Given the description of an element on the screen output the (x, y) to click on. 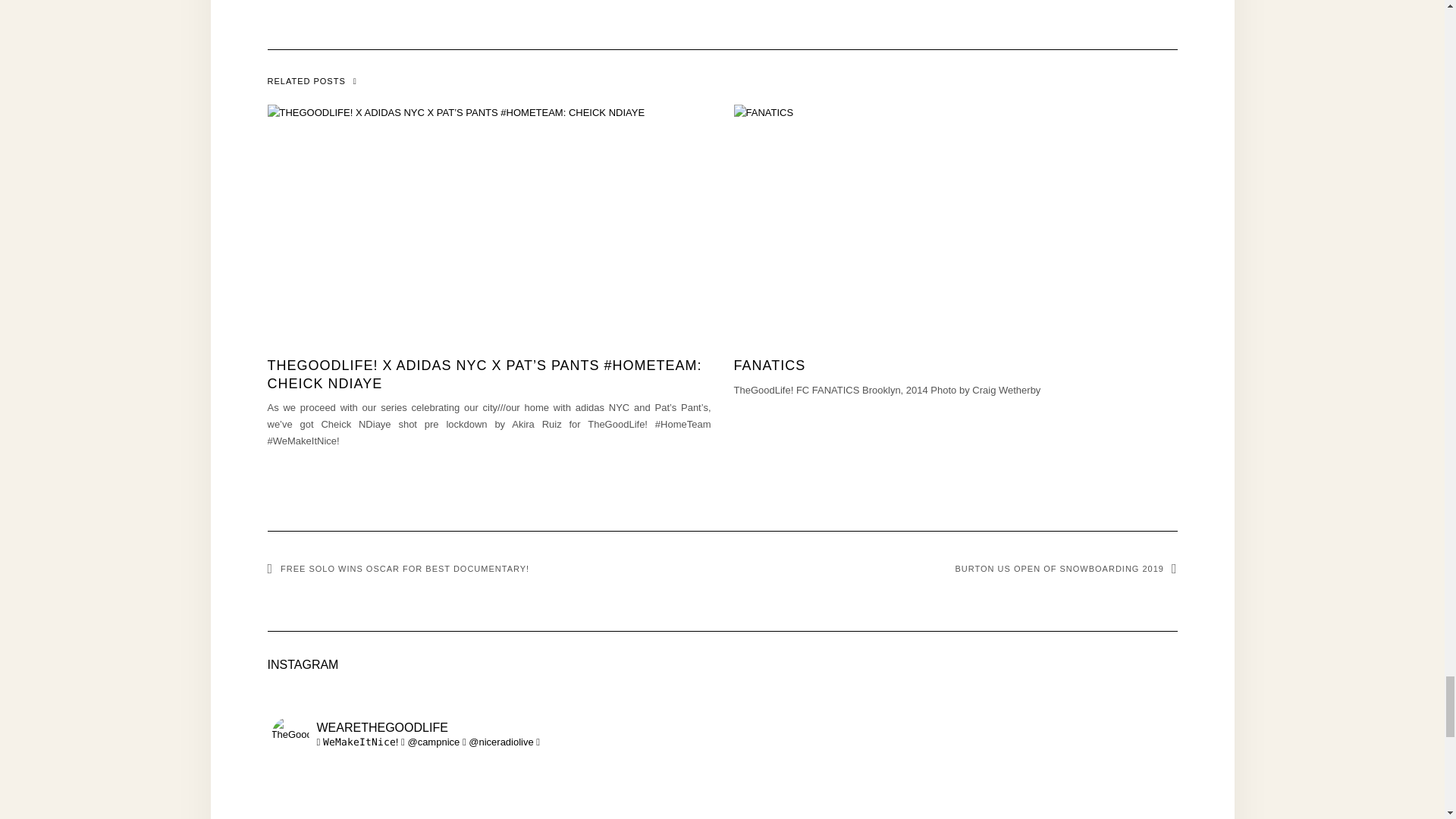
FREE SOLO WINS OSCAR FOR BEST DOCUMENTARY! (397, 568)
FANATICS (769, 365)
FANATICS (769, 365)
BURTON US OPEN OF SNOWBOARDING 2019 (1066, 568)
